Given the description of an element on the screen output the (x, y) to click on. 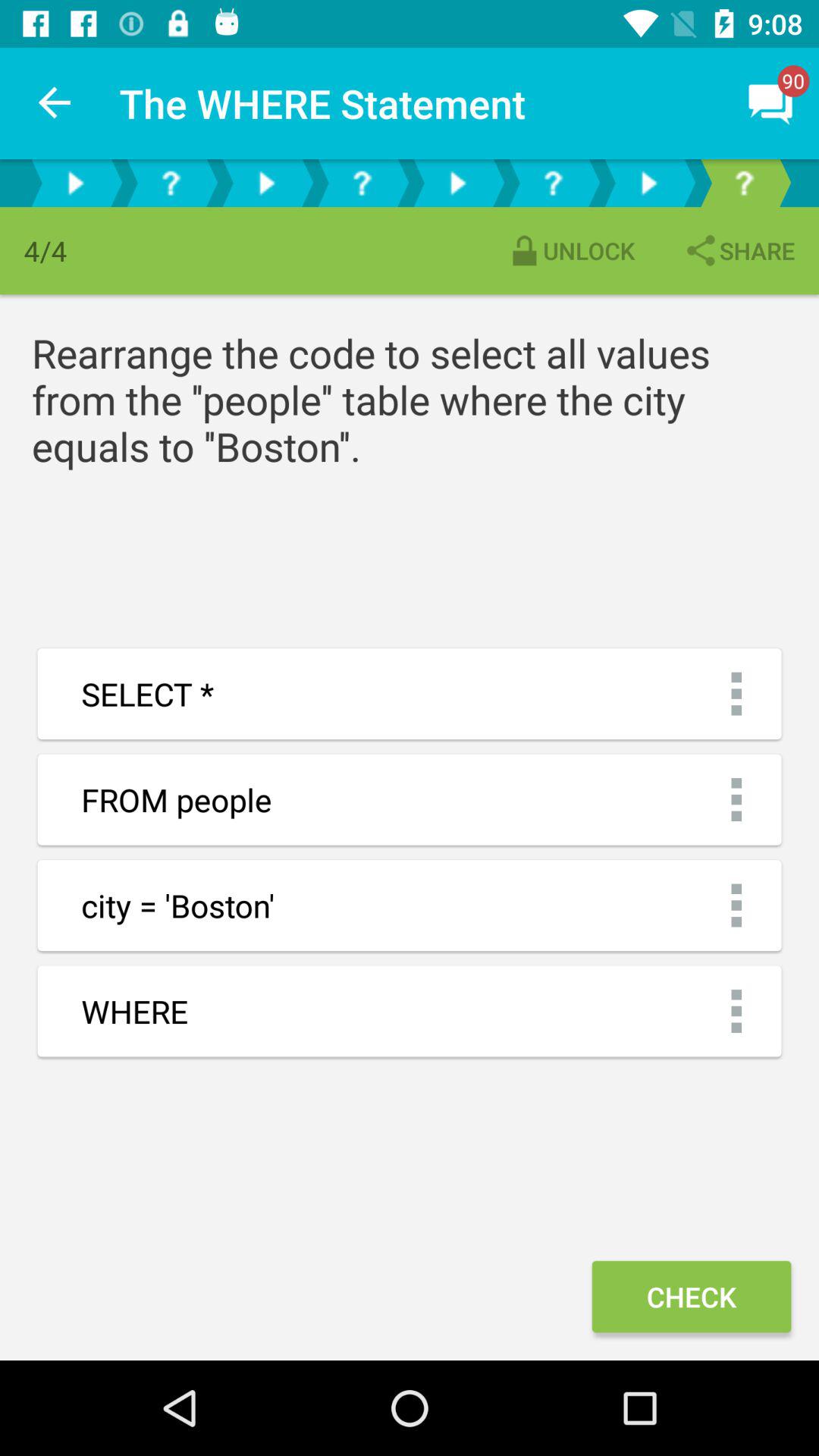
turn off the icon to the right of the unlock item (738, 250)
